Given the description of an element on the screen output the (x, y) to click on. 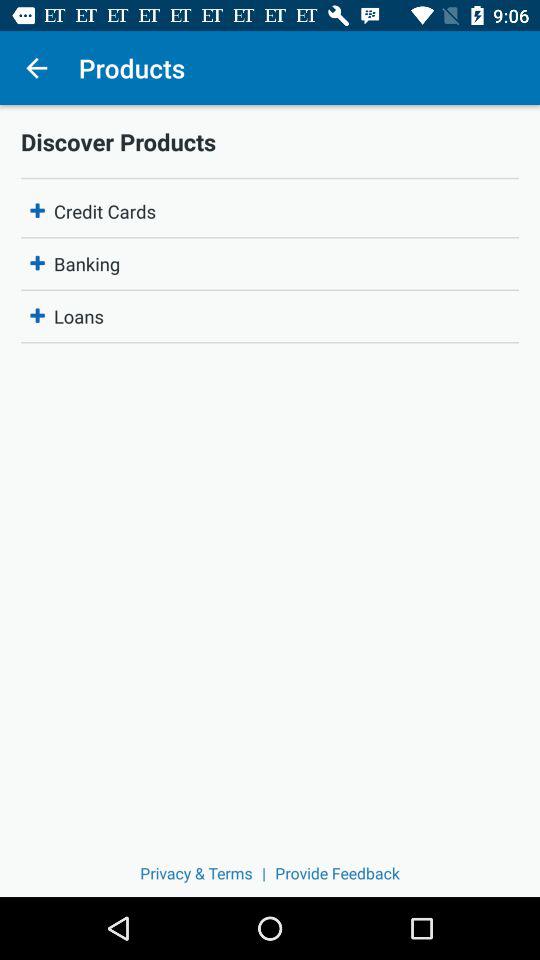
open icon below the loans icon (337, 872)
